Given the description of an element on the screen output the (x, y) to click on. 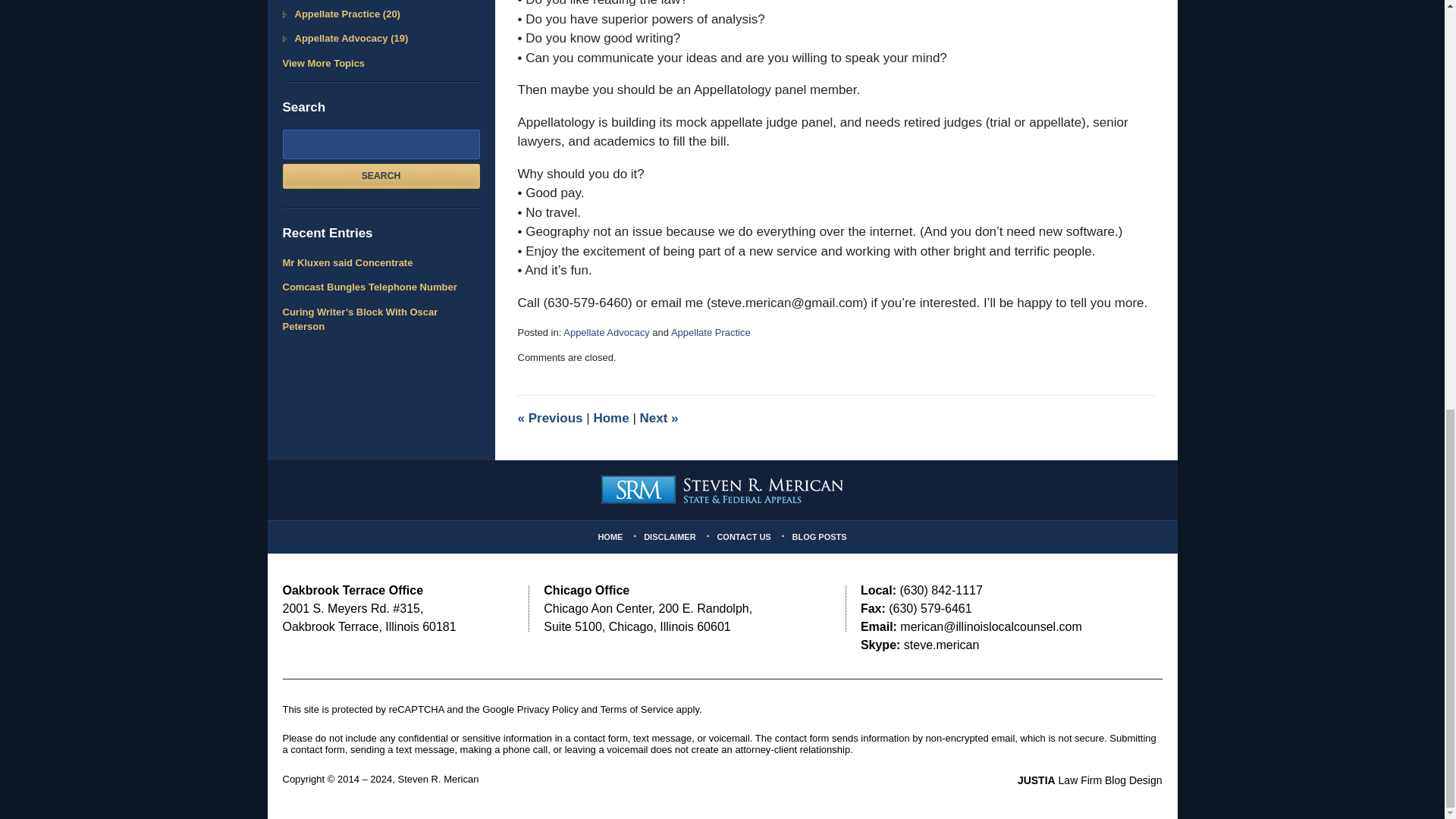
View More Topics (380, 63)
View all posts in Appellate Advocacy (606, 332)
Home (610, 418)
SEARCH (380, 176)
Mr Kluxen said Concentrate (380, 263)
Appellate Advocacy (606, 332)
Failure To File Written Opposition Not A Basis For Waiver (659, 418)
View all posts in Appellate Practice (711, 332)
Appellate Practice (711, 332)
